Given the description of an element on the screen output the (x, y) to click on. 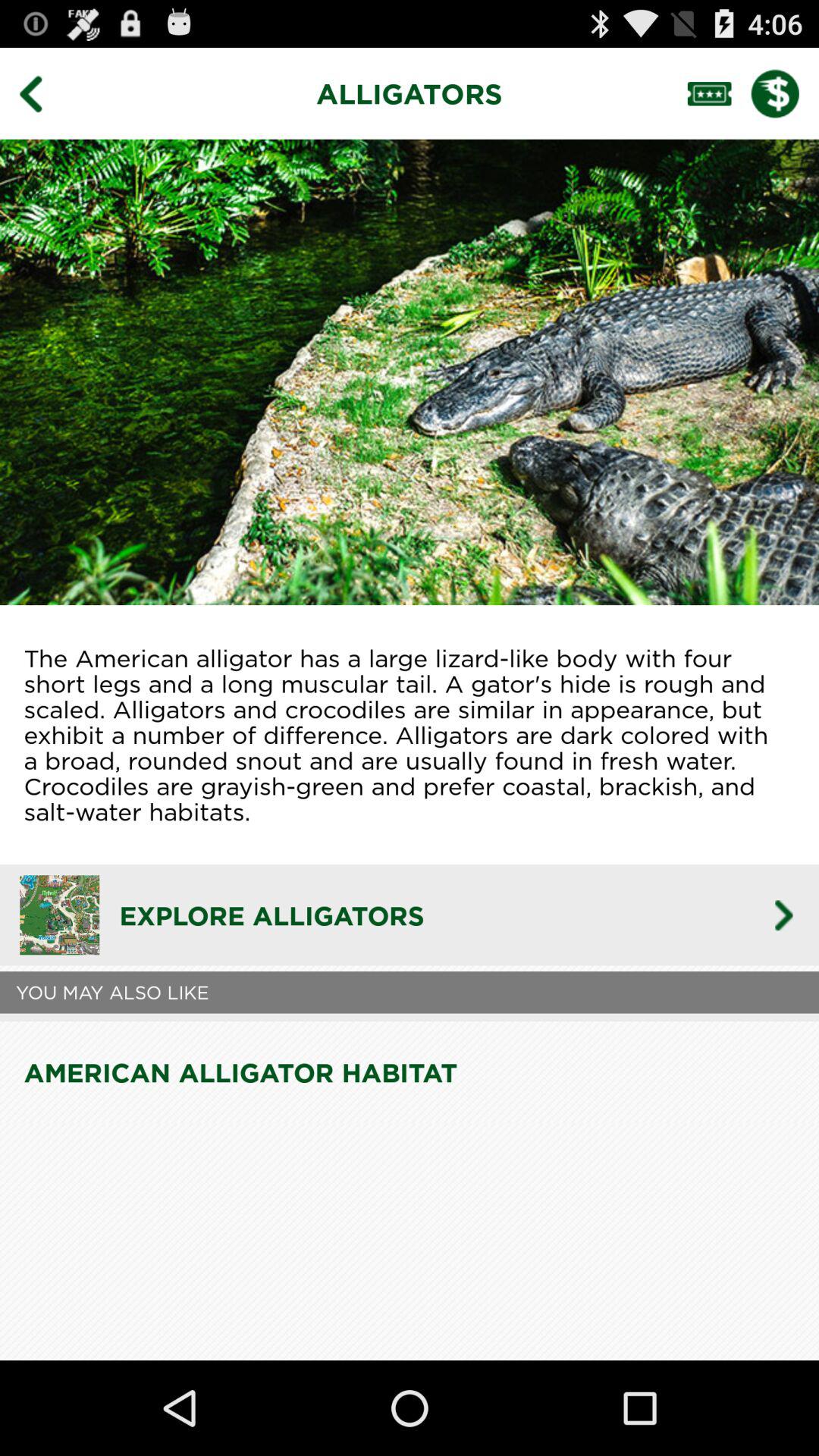
see pricing (785, 93)
